Given the description of an element on the screen output the (x, y) to click on. 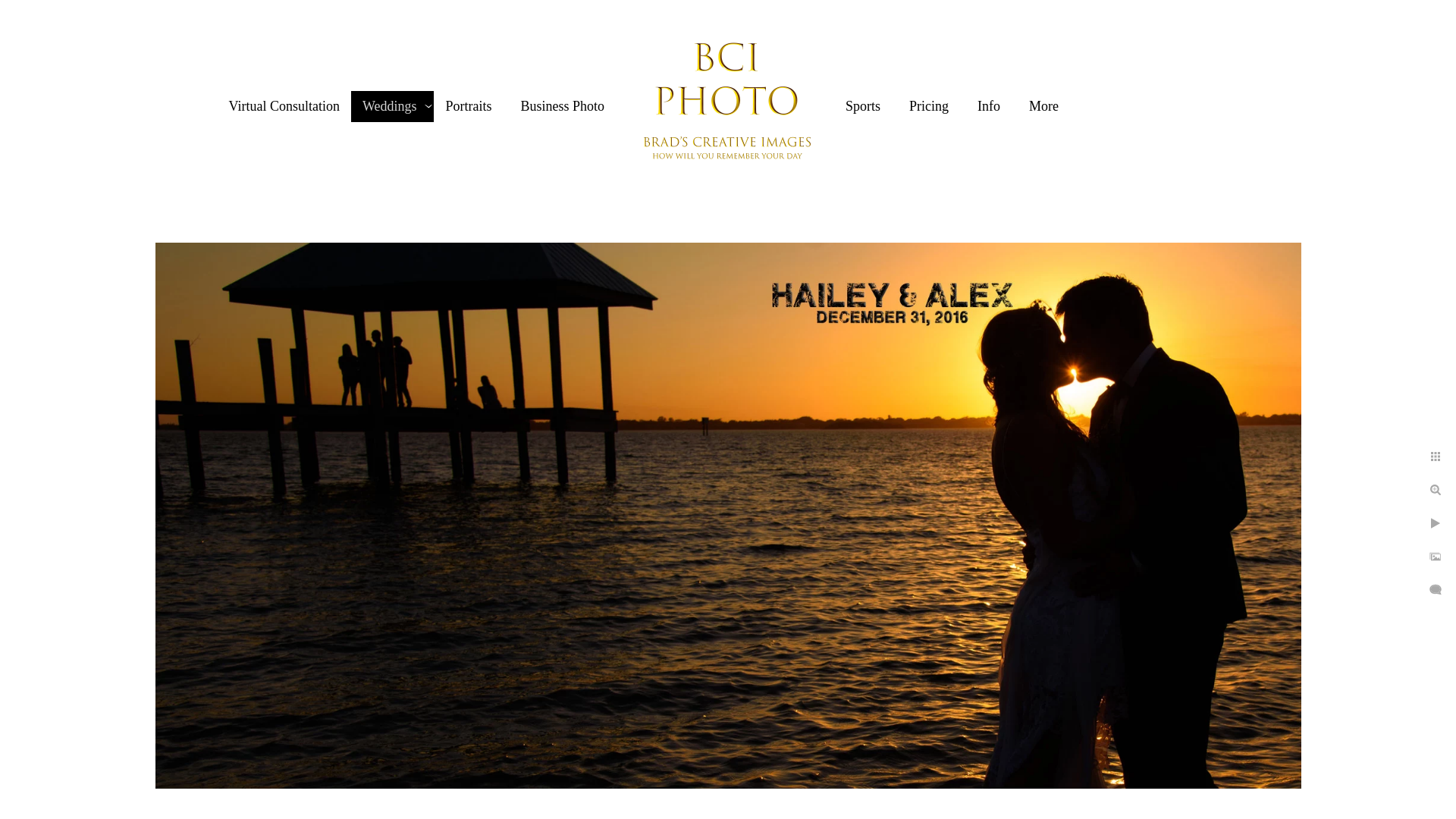
Info (988, 105)
More (1043, 105)
Virtual Consultation (283, 105)
Weddings (389, 105)
Pricing (928, 105)
Business Photo (561, 105)
Portraits (468, 105)
Sports (862, 105)
